Given the description of an element on the screen output the (x, y) to click on. 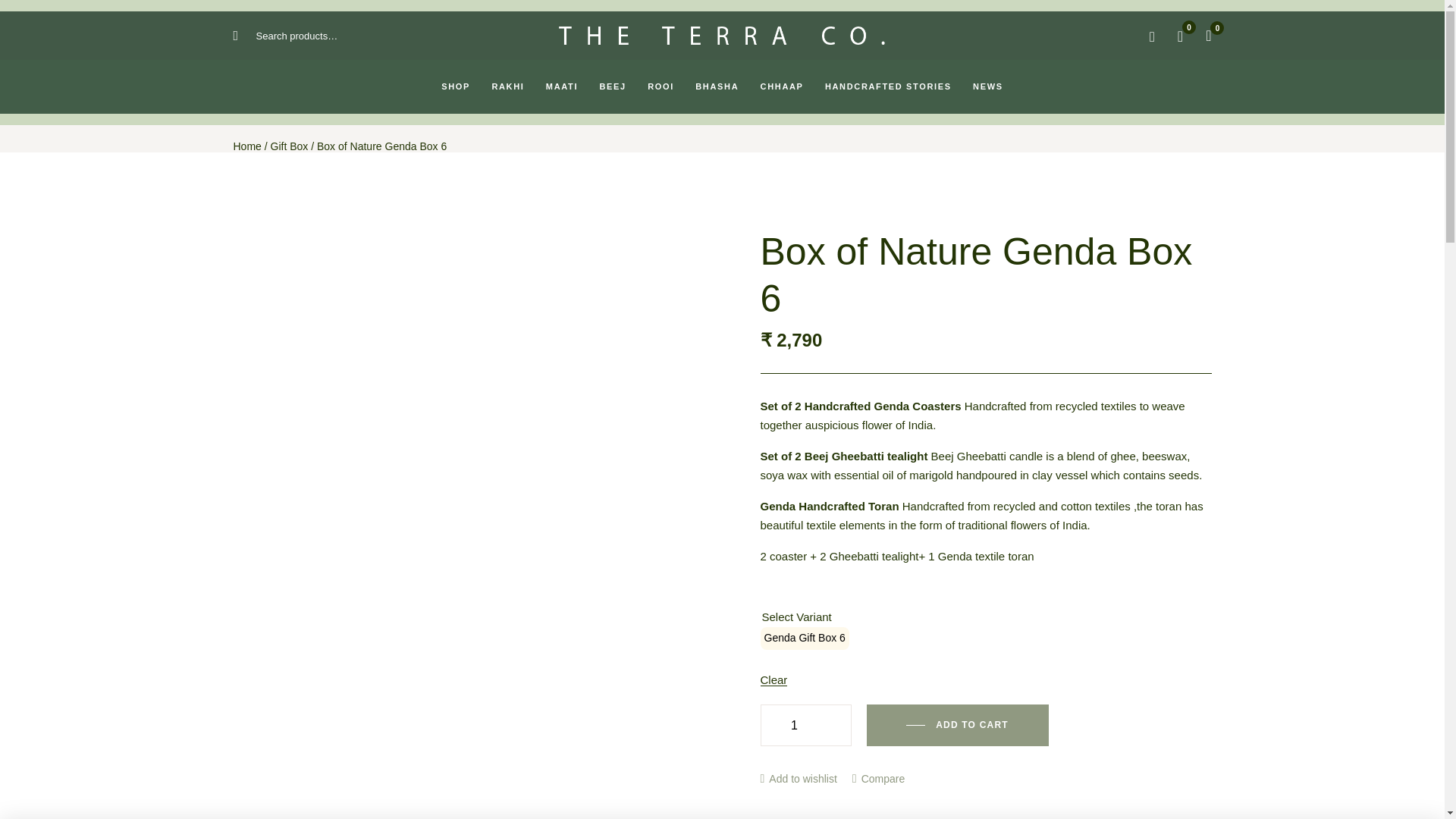
RAKHI (506, 86)
MAATI (561, 86)
HANDCRAFTED STORIES (887, 86)
CHHAAP (781, 86)
Genda Gift Box 6 (804, 638)
BHASHA (716, 86)
Home (247, 146)
NEWS (987, 86)
ROOI (660, 86)
SEARCH (247, 35)
